Given the description of an element on the screen output the (x, y) to click on. 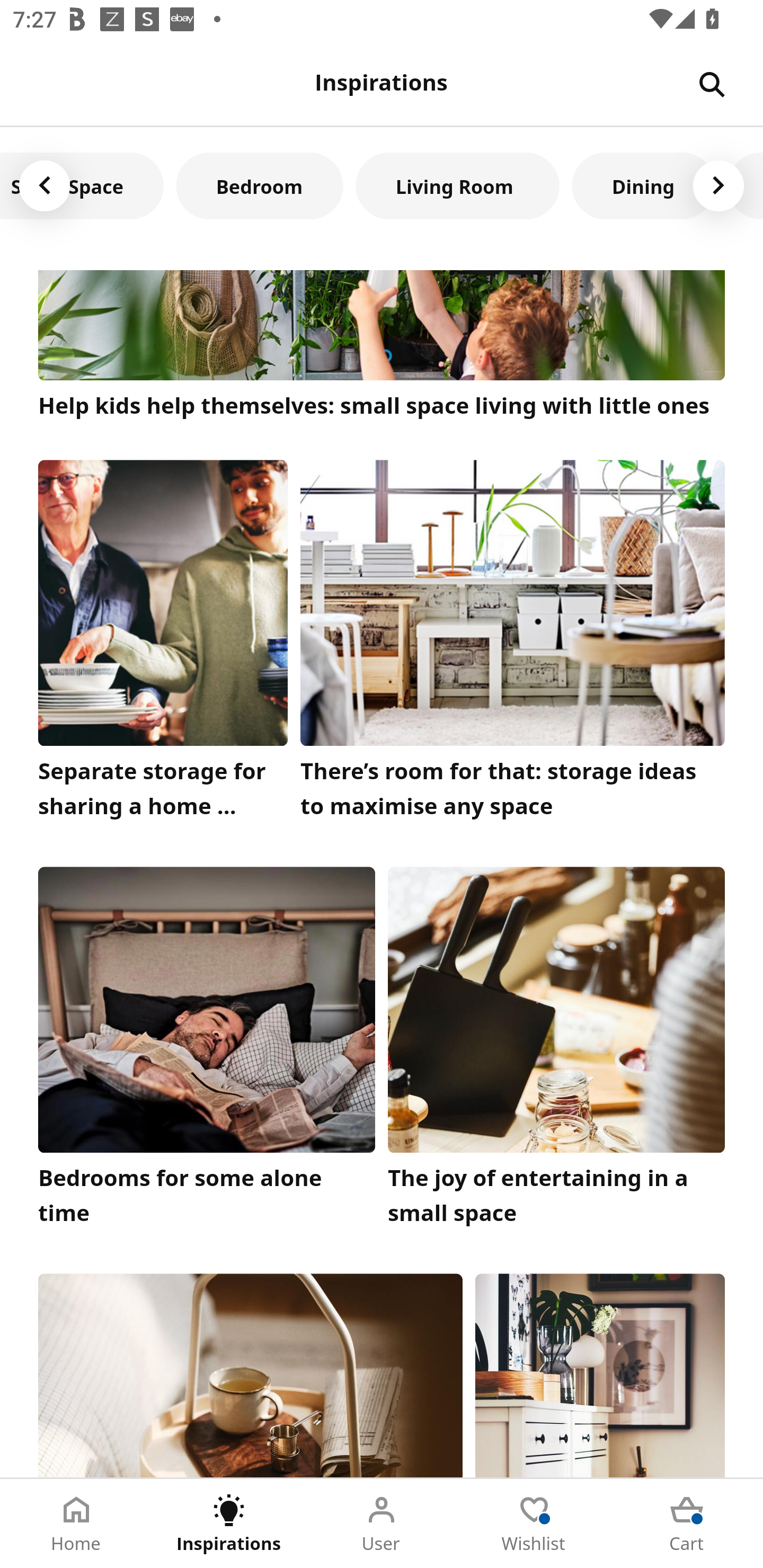
Bedroom (259, 185)
Living Room  (457, 185)
Dining (643, 185)
Separate storage for sharing a home successfully (162, 643)
Bedrooms for some alone time (206, 1051)
The joy of entertaining in a small space (555, 1051)
Home
Tab 1 of 5 (76, 1522)
Inspirations
Tab 2 of 5 (228, 1522)
User
Tab 3 of 5 (381, 1522)
Wishlist
Tab 4 of 5 (533, 1522)
Cart
Tab 5 of 5 (686, 1522)
